Given the description of an element on the screen output the (x, y) to click on. 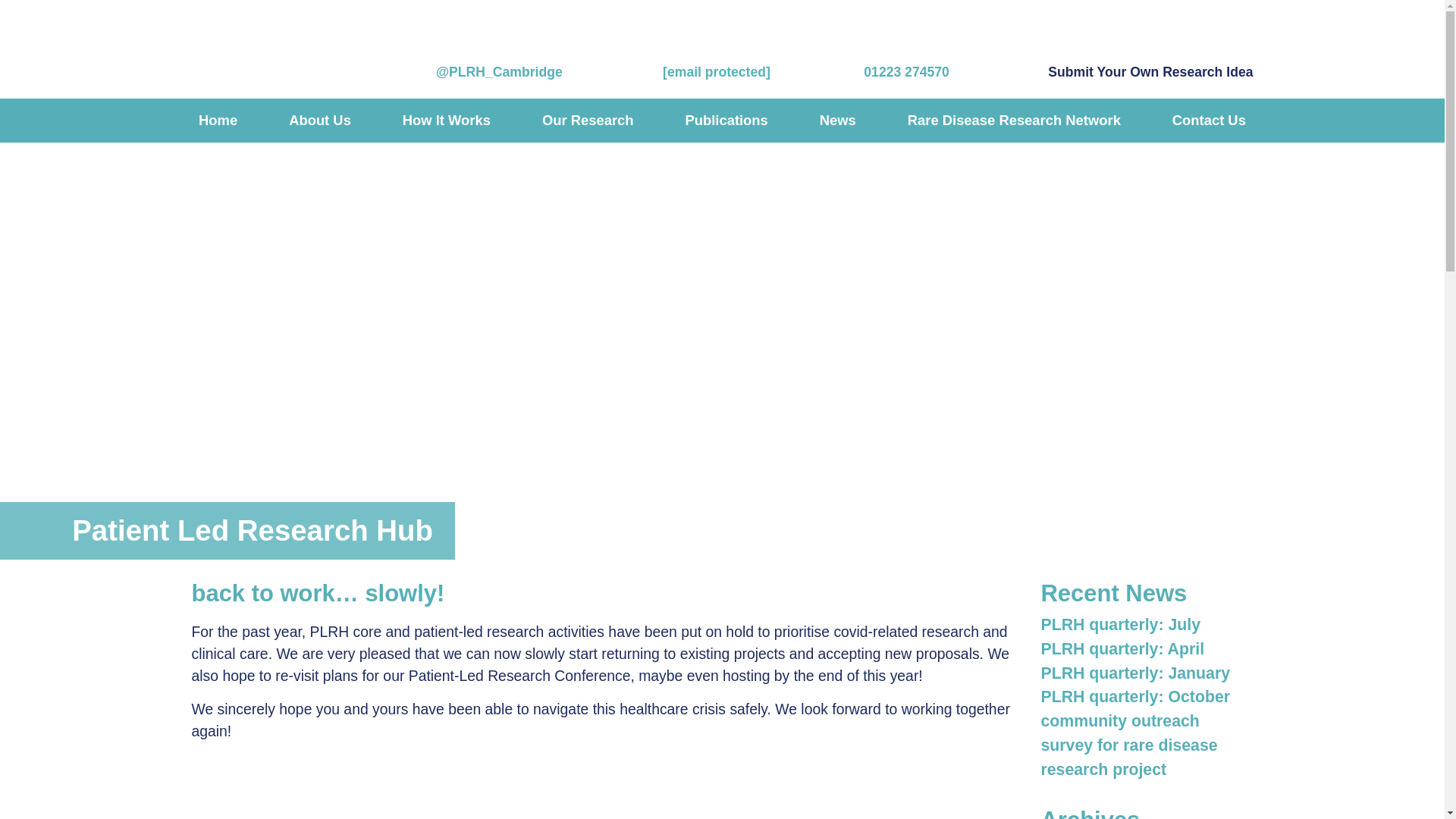
Rare Disease Research Network (1012, 120)
Publications (727, 120)
Submit Your Own Research Idea (1137, 69)
PLRH quarterly: April (1122, 648)
PLRH quarterly: October (1135, 696)
PLRH quarterly: January (1135, 673)
How It Works (445, 120)
About Us (320, 120)
Contact Us (1208, 120)
Our Research (587, 120)
